Given the description of an element on the screen output the (x, y) to click on. 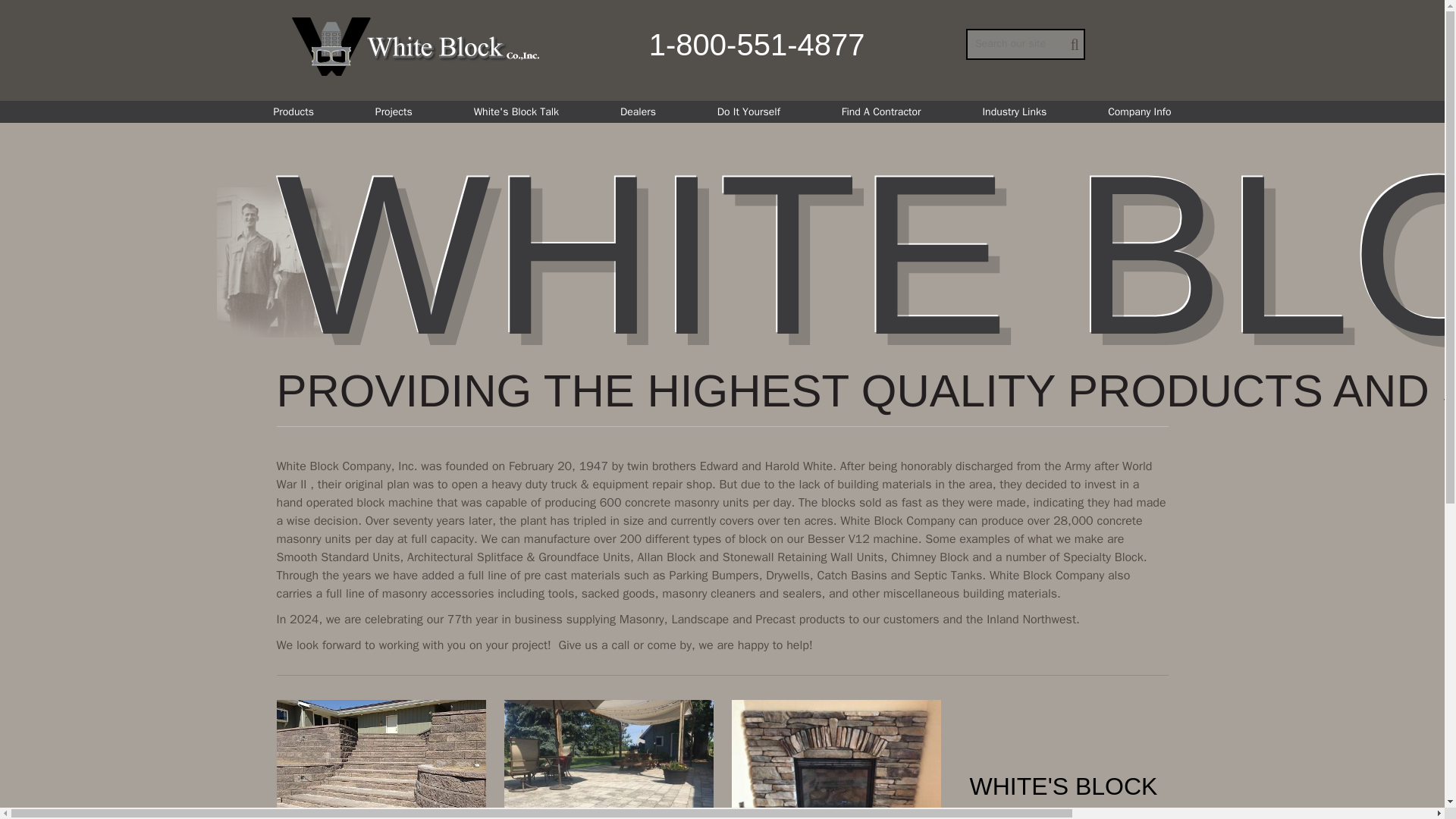
1-800-551-4877 (756, 43)
Products (292, 111)
